Given the description of an element on the screen output the (x, y) to click on. 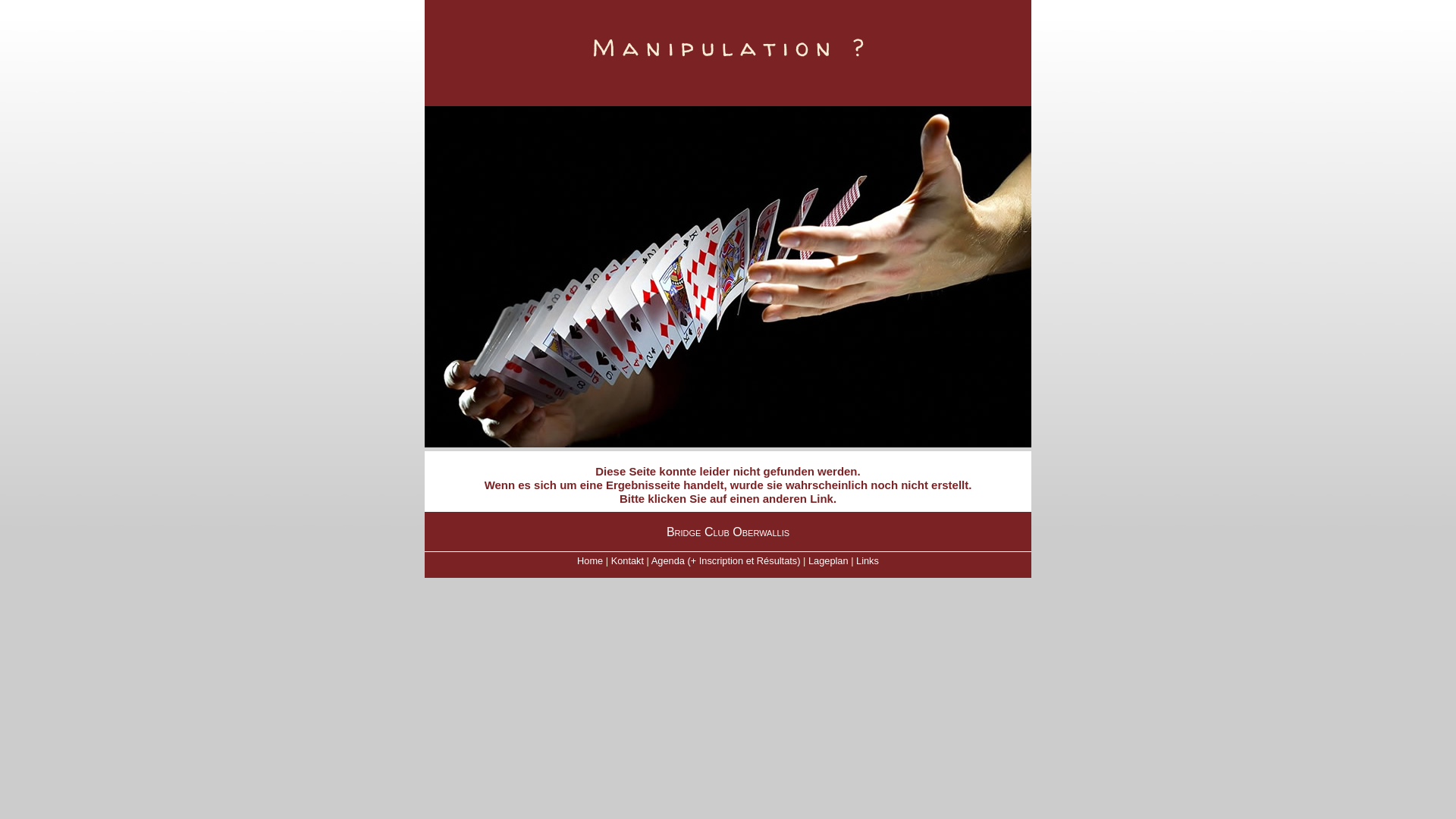
Lageplan Element type: text (828, 560)
Home Element type: text (589, 560)
Links Element type: text (867, 560)
Bridge Club Oberwallis Element type: text (727, 531)
Kontakt Element type: text (627, 560)
 Erreur 404  Element type: hover (727, 276)
